Given the description of an element on the screen output the (x, y) to click on. 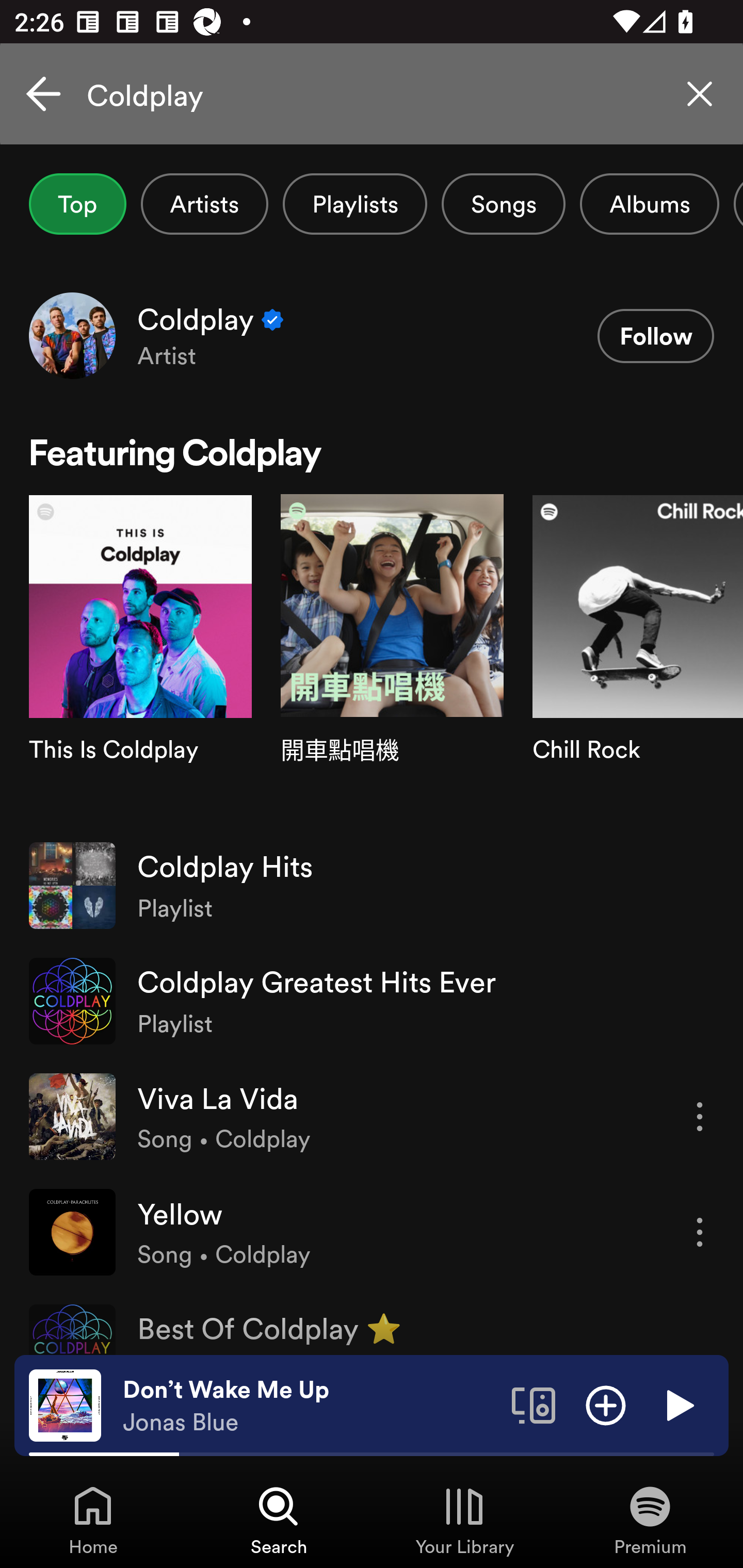
Coldplay (371, 93)
Cancel (43, 93)
Clear search query (699, 93)
Top (77, 203)
Artists (204, 203)
Playlists (355, 203)
Songs (503, 203)
Albums (649, 203)
Coldplay Verified Artist Follow Follow (371, 335)
Follow (655, 335)
Search card image This Is Coldplay (139, 660)
Search card image 開車點唱機 (391, 660)
Search card image Chill Rock (637, 660)
Coldplay Hits Playlist (371, 885)
Coldplay Greatest Hits Ever Playlist (371, 1000)
More options for song Viva La Vida (699, 1117)
More options for song Yellow (699, 1231)
Best Of Coldplay ⭐ Playlist (371, 1322)
Don’t Wake Me Up Jonas Blue (309, 1405)
The cover art of the currently playing track (64, 1404)
Connect to a device. Opens the devices menu (533, 1404)
Add item (605, 1404)
Play (677, 1404)
Home, Tab 1 of 4 Home Home (92, 1519)
Search, Tab 2 of 4 Search Search (278, 1519)
Your Library, Tab 3 of 4 Your Library Your Library (464, 1519)
Premium, Tab 4 of 4 Premium Premium (650, 1519)
